Given the description of an element on the screen output the (x, y) to click on. 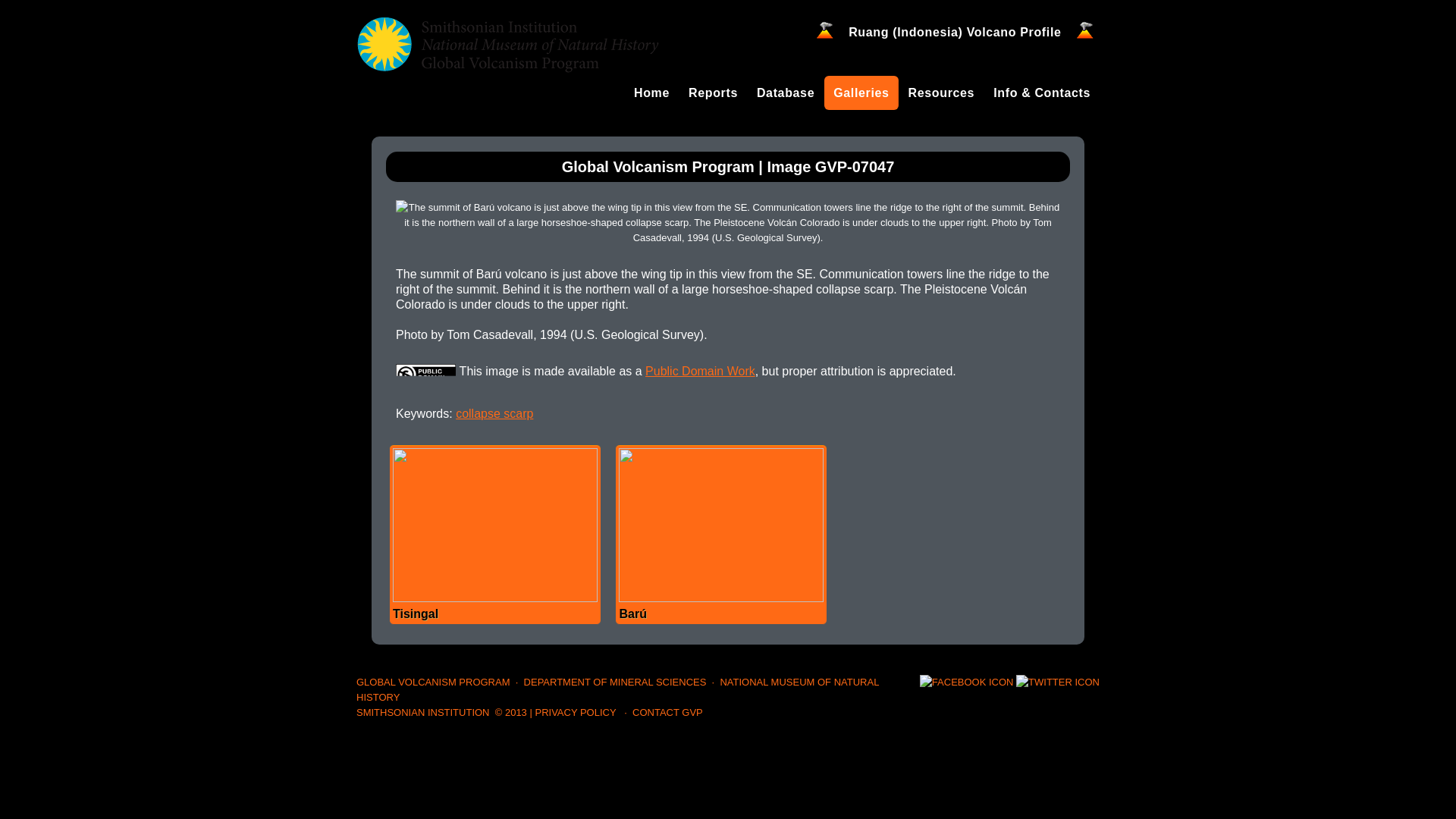
Facebook (966, 681)
Link to Privacy Notice (574, 712)
Resources (941, 92)
Home (651, 92)
Tisingal (494, 533)
Reports (712, 92)
collapse scarp (493, 413)
Link to Copyright Notice (511, 712)
Send email to GVP (666, 712)
Galleries (861, 92)
Database (786, 92)
Public Domain Work (700, 370)
Twitter (1057, 681)
